Given the description of an element on the screen output the (x, y) to click on. 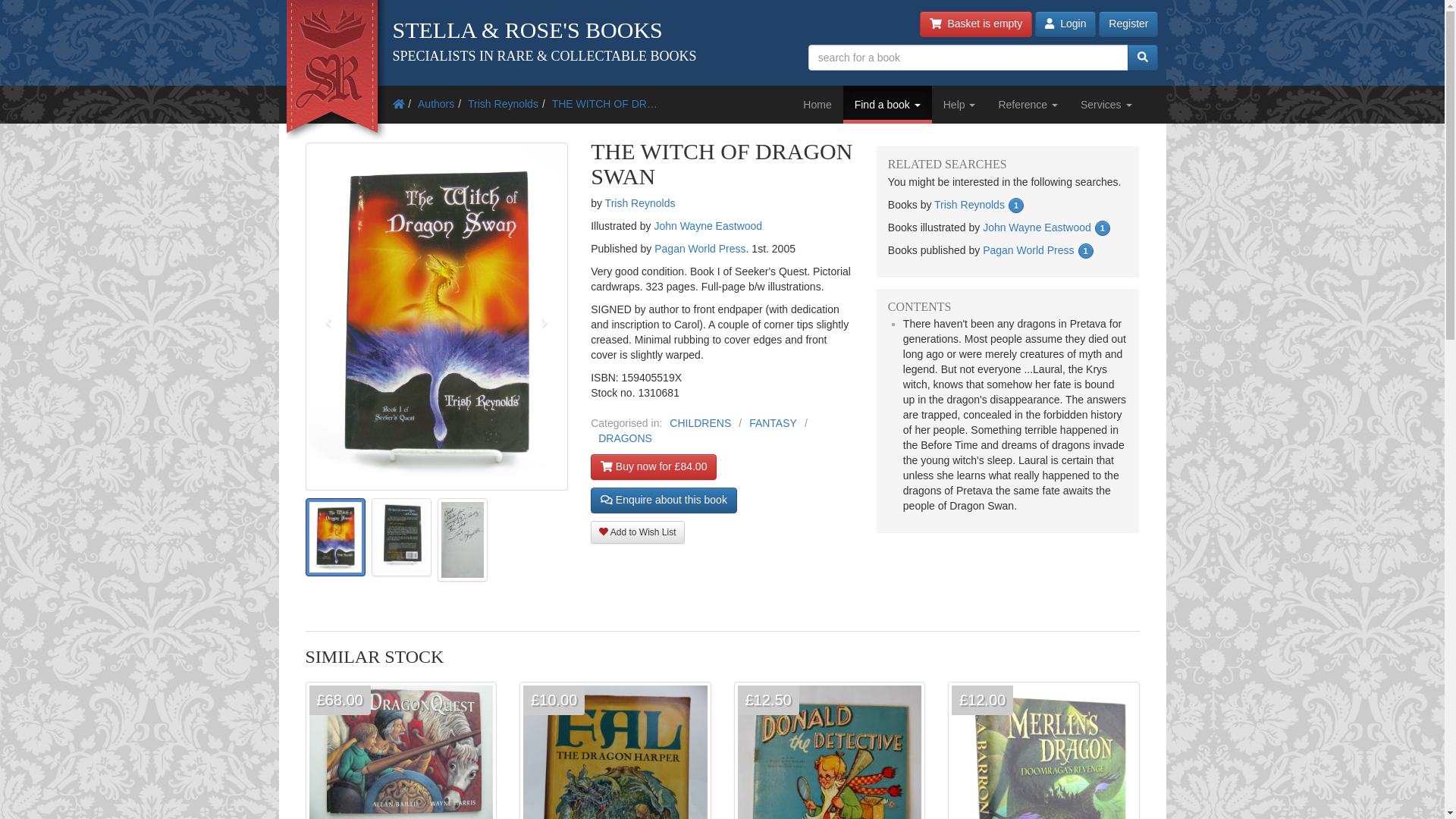
Authors (435, 103)
Trish Reynolds (502, 103)
Find a book (887, 104)
  Basket is empty (976, 23)
Trish Reynolds (502, 103)
THE WITCH OF DRAGON SWAN (604, 103)
Help (959, 104)
  Login (1065, 23)
Home (817, 104)
Services (1105, 104)
Authors (435, 103)
Register (1128, 23)
Reference (1027, 104)
